Given the description of an element on the screen output the (x, y) to click on. 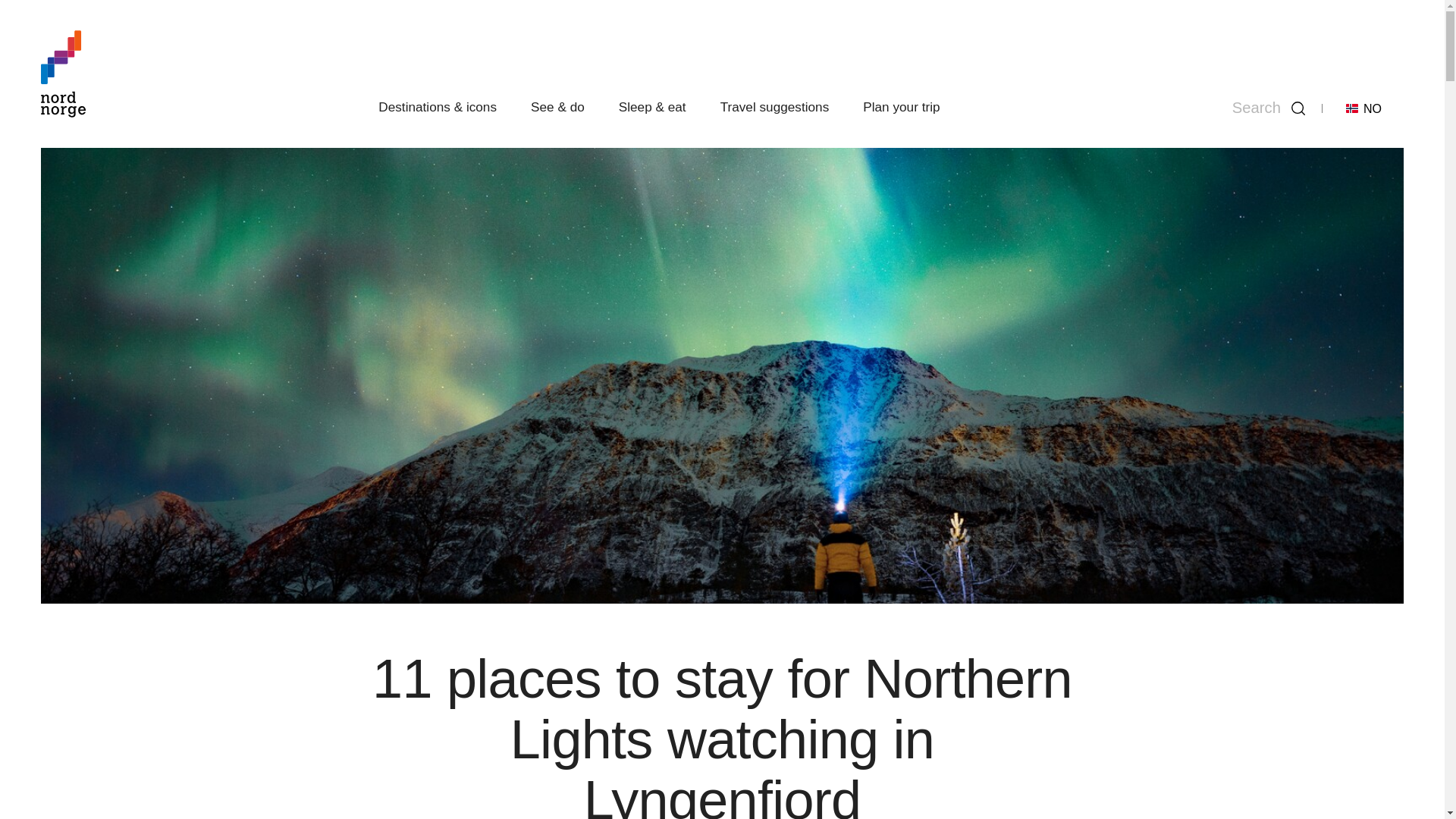
Search (1268, 108)
Plan your trip (901, 106)
Travel suggestions (774, 106)
NO (1363, 107)
